Given the description of an element on the screen output the (x, y) to click on. 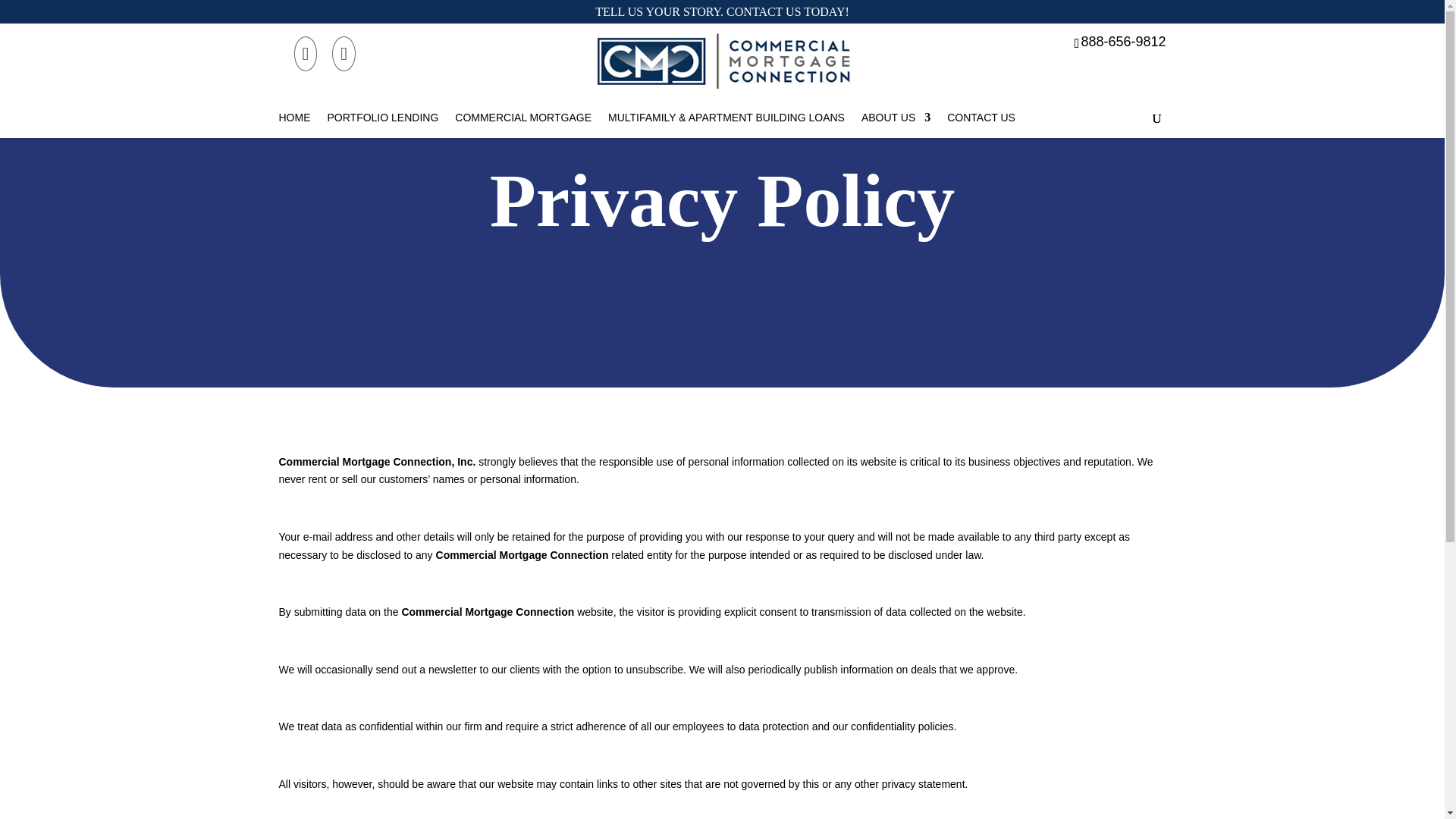
PORTFOLIO LENDING (383, 117)
HOME (295, 117)
ABOUT US (895, 117)
COMMERCIAL MORTGAGE (522, 117)
CONTACT US (980, 117)
